Given the description of an element on the screen output the (x, y) to click on. 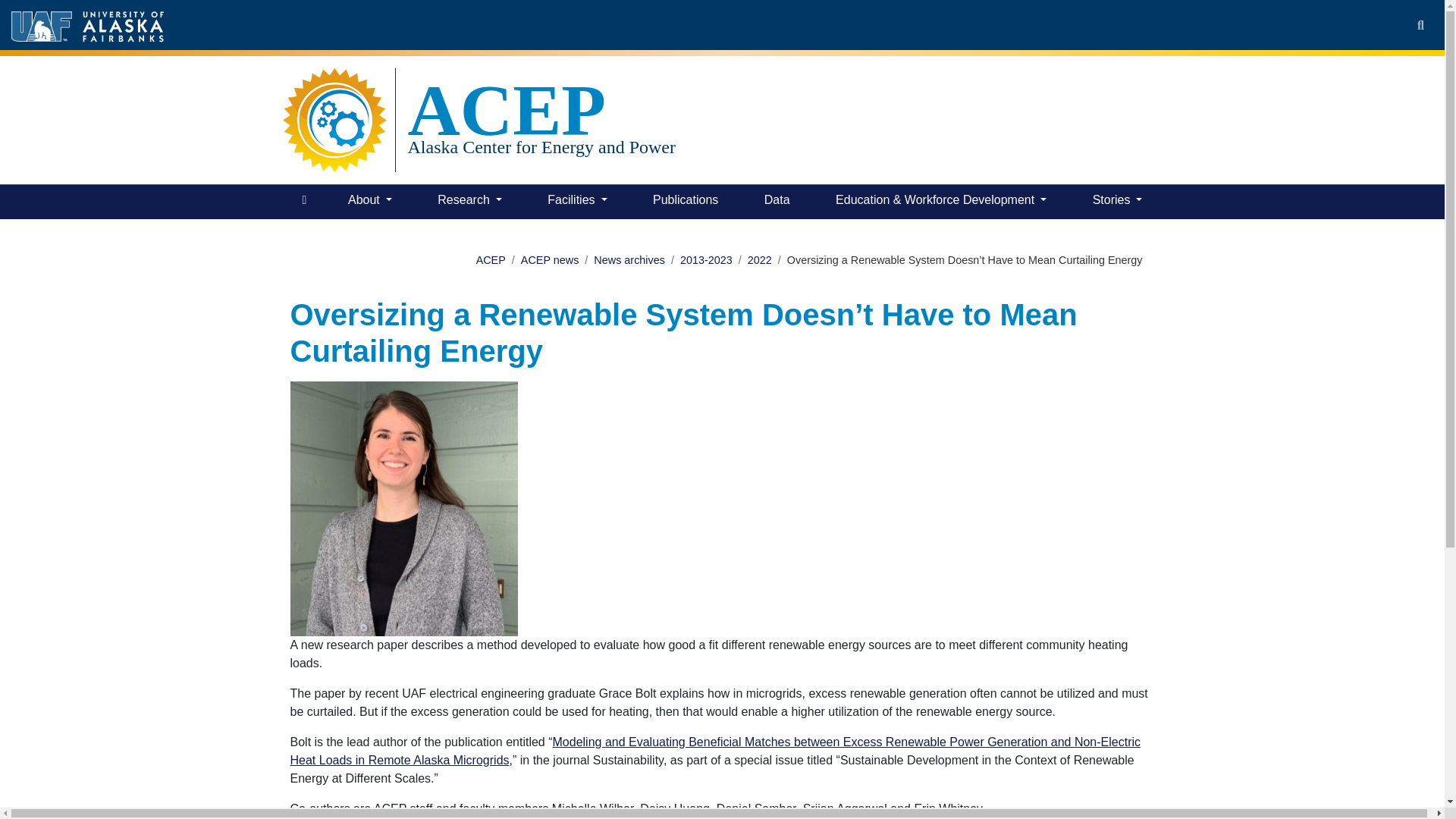
About (369, 202)
Facilities (576, 202)
Research (468, 202)
Publications (684, 202)
ACEP (541, 109)
Data (777, 202)
Stories (1117, 202)
